Given the description of an element on the screen output the (x, y) to click on. 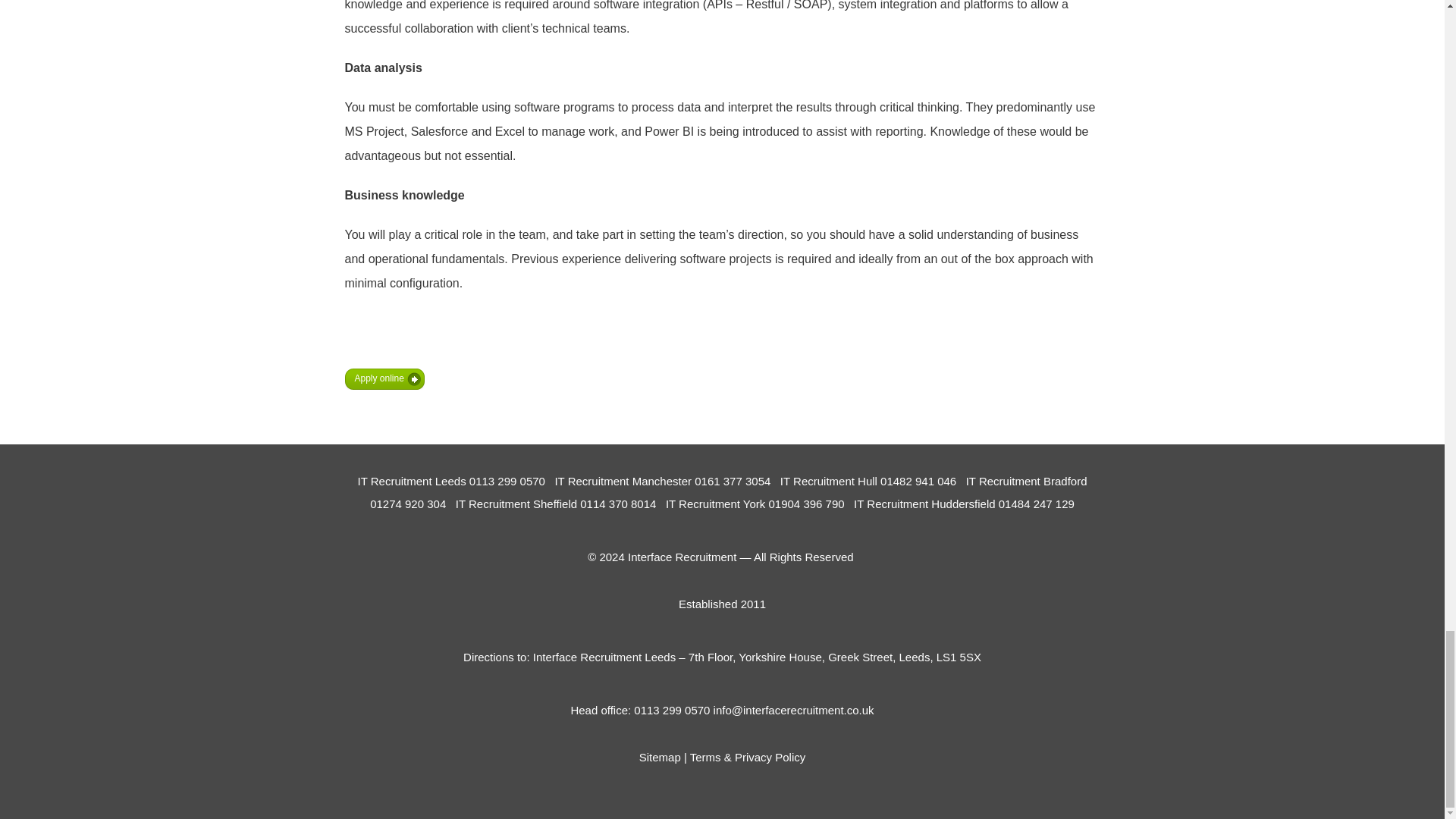
Apply online (383, 378)
 IT Recruitment Hull 01482 941 046  (868, 481)
IT Recruitment Leeds 0113 299 0570 (453, 481)
IT Recruitment Manchester 0161 377 3054 (662, 481)
